Given the description of an element on the screen output the (x, y) to click on. 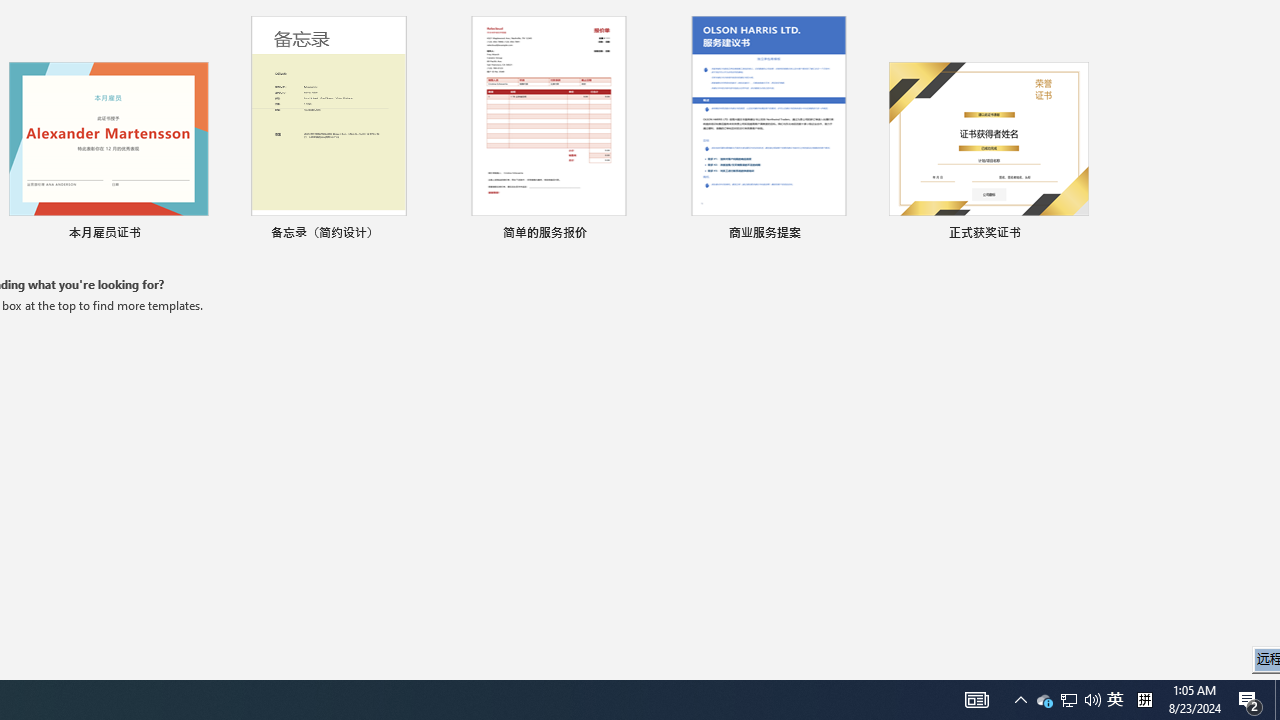
Pin to list (1075, 234)
